Given the description of an element on the screen output the (x, y) to click on. 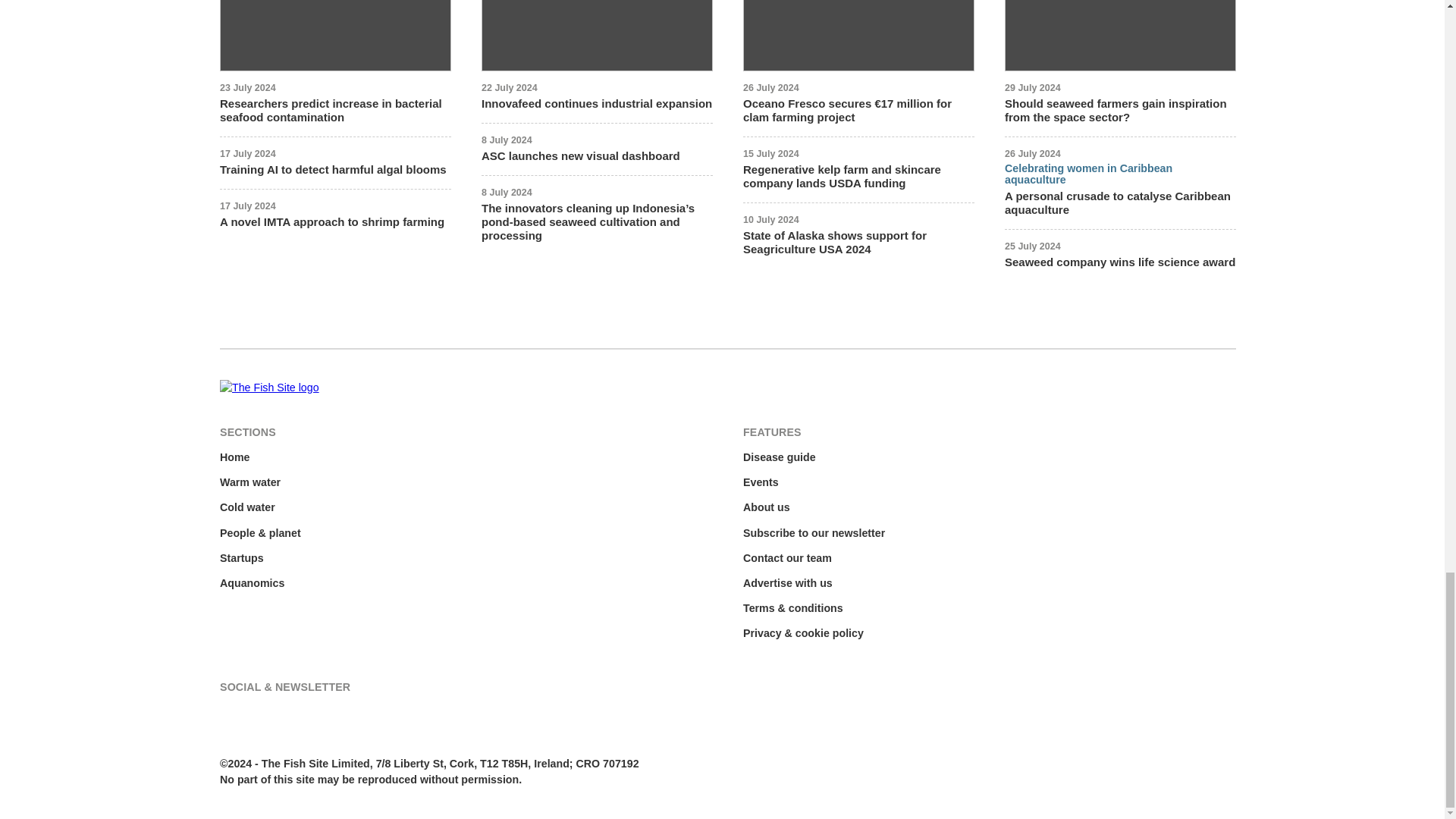
Return to The Fish Site homepage (268, 387)
Instagram (325, 715)
Facebook (261, 715)
Twitter (229, 715)
LinkedIn (293, 715)
Advertise with us (787, 583)
